Given the description of an element on the screen output the (x, y) to click on. 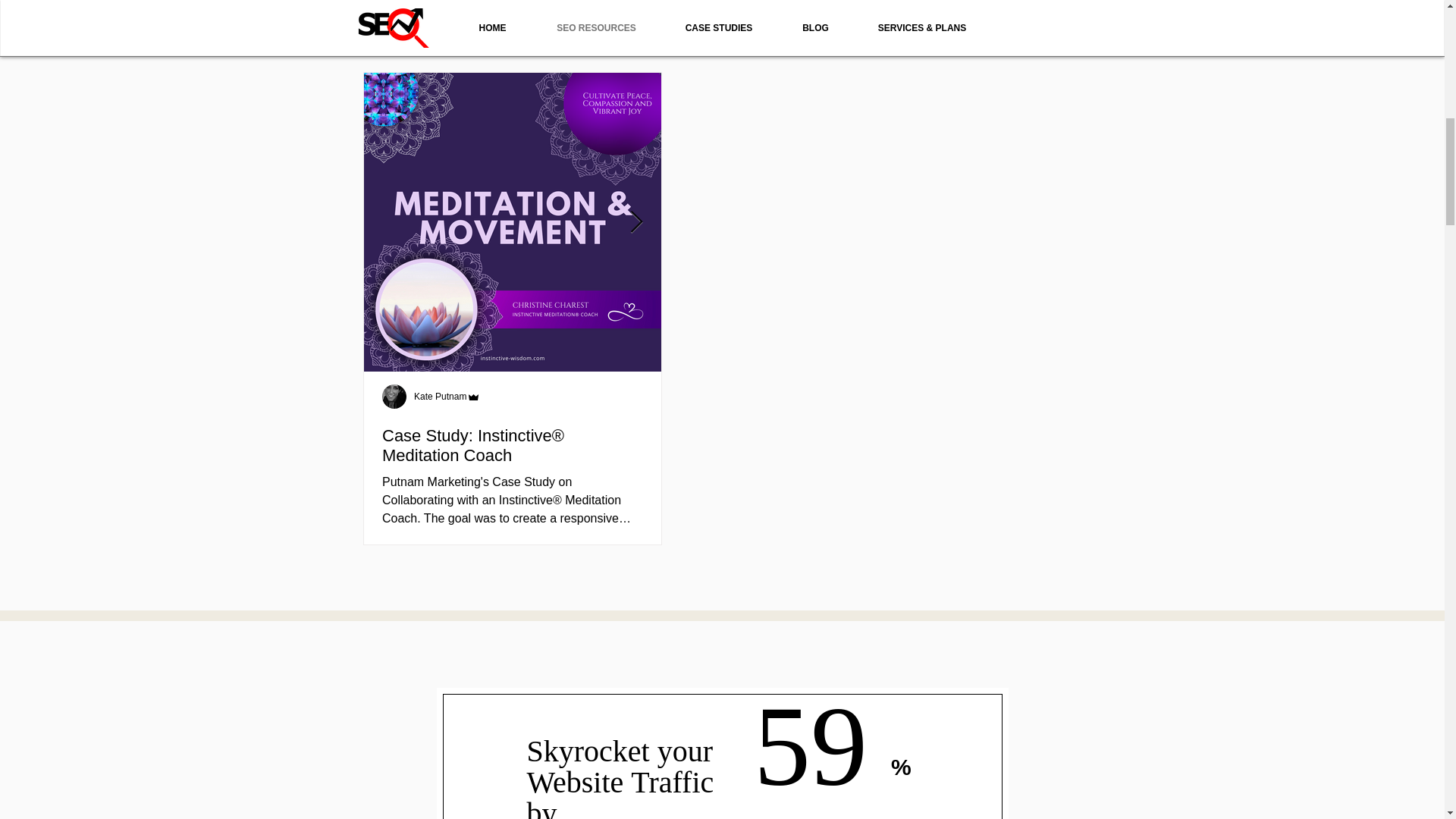
Kate Putnam (439, 396)
Kate Putnam (736, 396)
Kate Putnam (744, 396)
Kate Putnam (446, 396)
Case Study: Hansen Bridge Portfolio Expansion (809, 445)
